Given the description of an element on the screen output the (x, y) to click on. 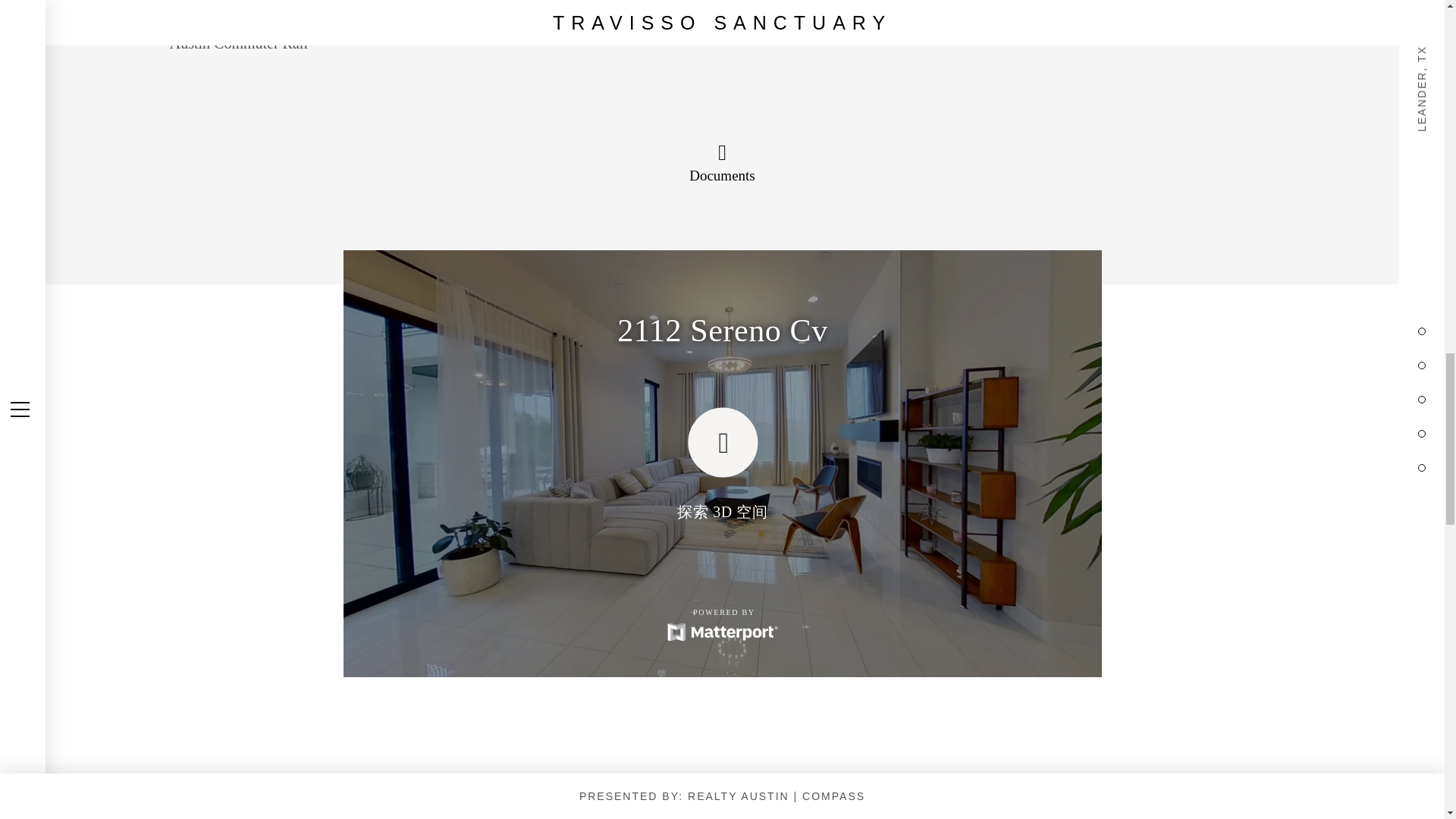
Documents (721, 163)
